Given the description of an element on the screen output the (x, y) to click on. 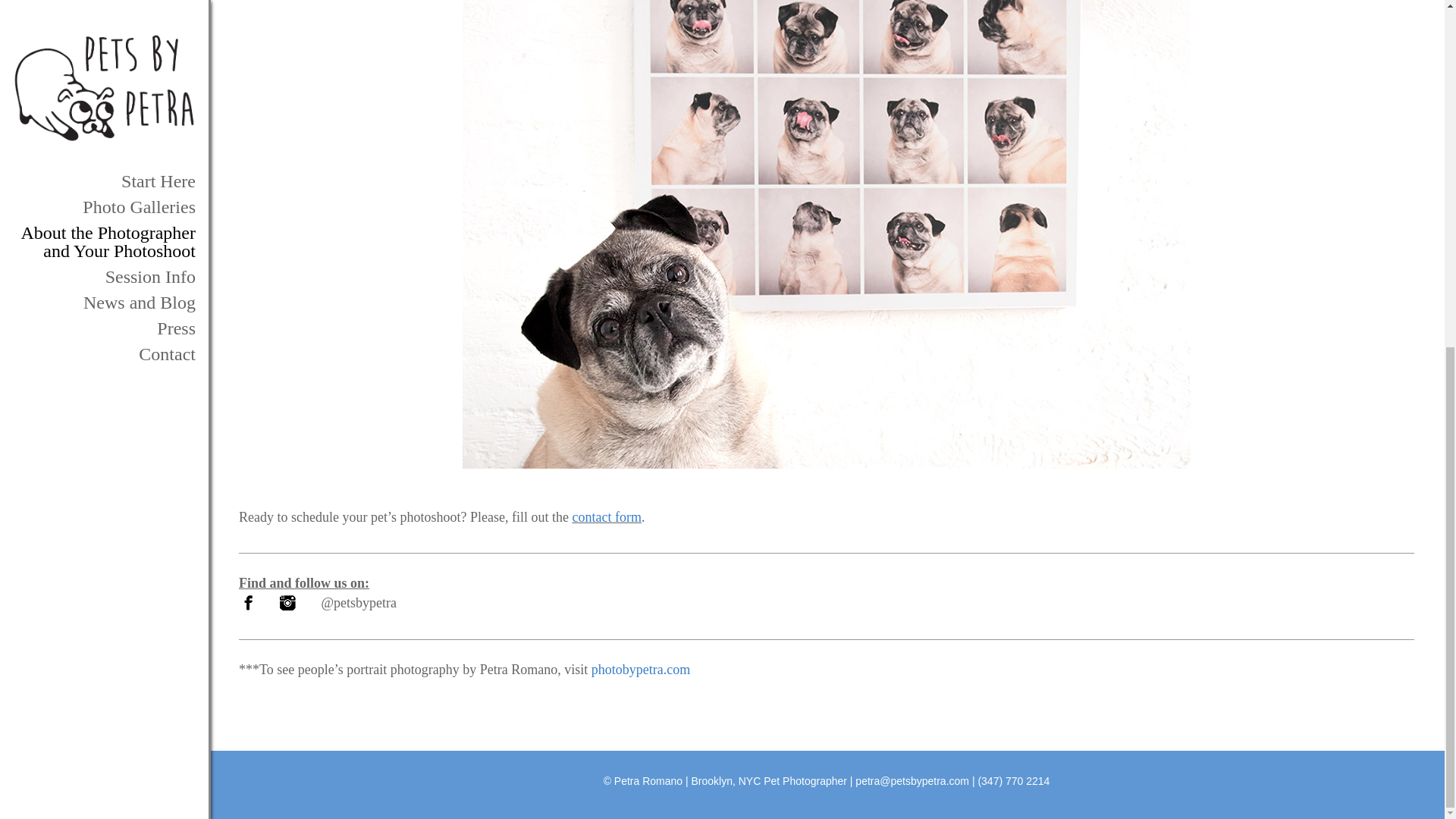
contact form (606, 516)
photobypetra.com (640, 669)
